Given the description of an element on the screen output the (x, y) to click on. 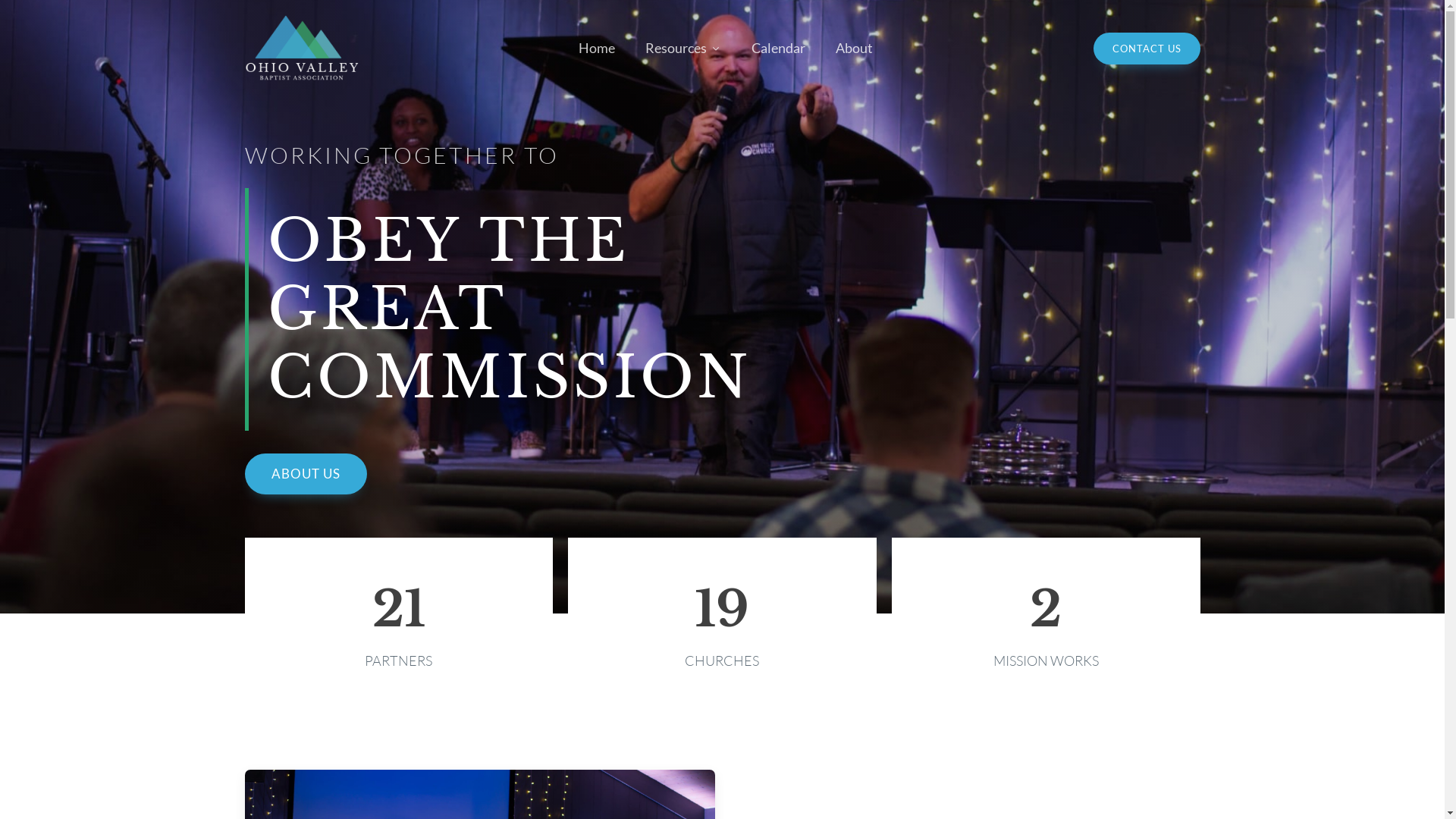
Resources Element type: text (683, 47)
Home Element type: text (596, 47)
Calendar Element type: text (778, 47)
About Element type: text (854, 47)
CONTACT US Element type: text (1146, 48)
ABOUT US Element type: text (305, 473)
